Given the description of an element on the screen output the (x, y) to click on. 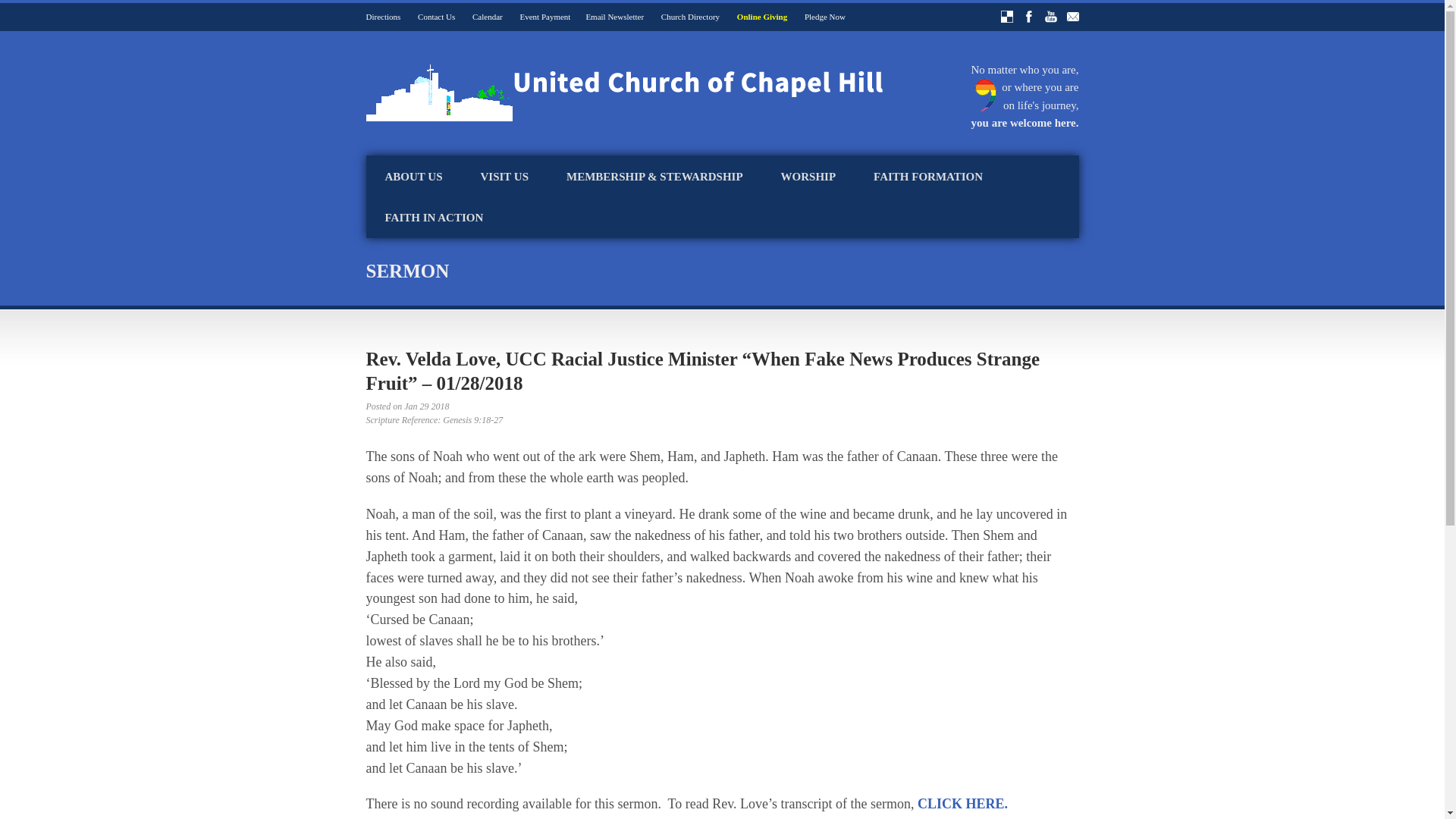
VISIT US (504, 176)
Directions (382, 16)
Pledge Now (825, 16)
Church Directory (690, 16)
Contact Us (435, 16)
Event Payment (544, 16)
WORSHIP (808, 176)
Calendar (486, 16)
Email Newsletter (614, 16)
Online Giving (761, 16)
